Given the description of an element on the screen output the (x, y) to click on. 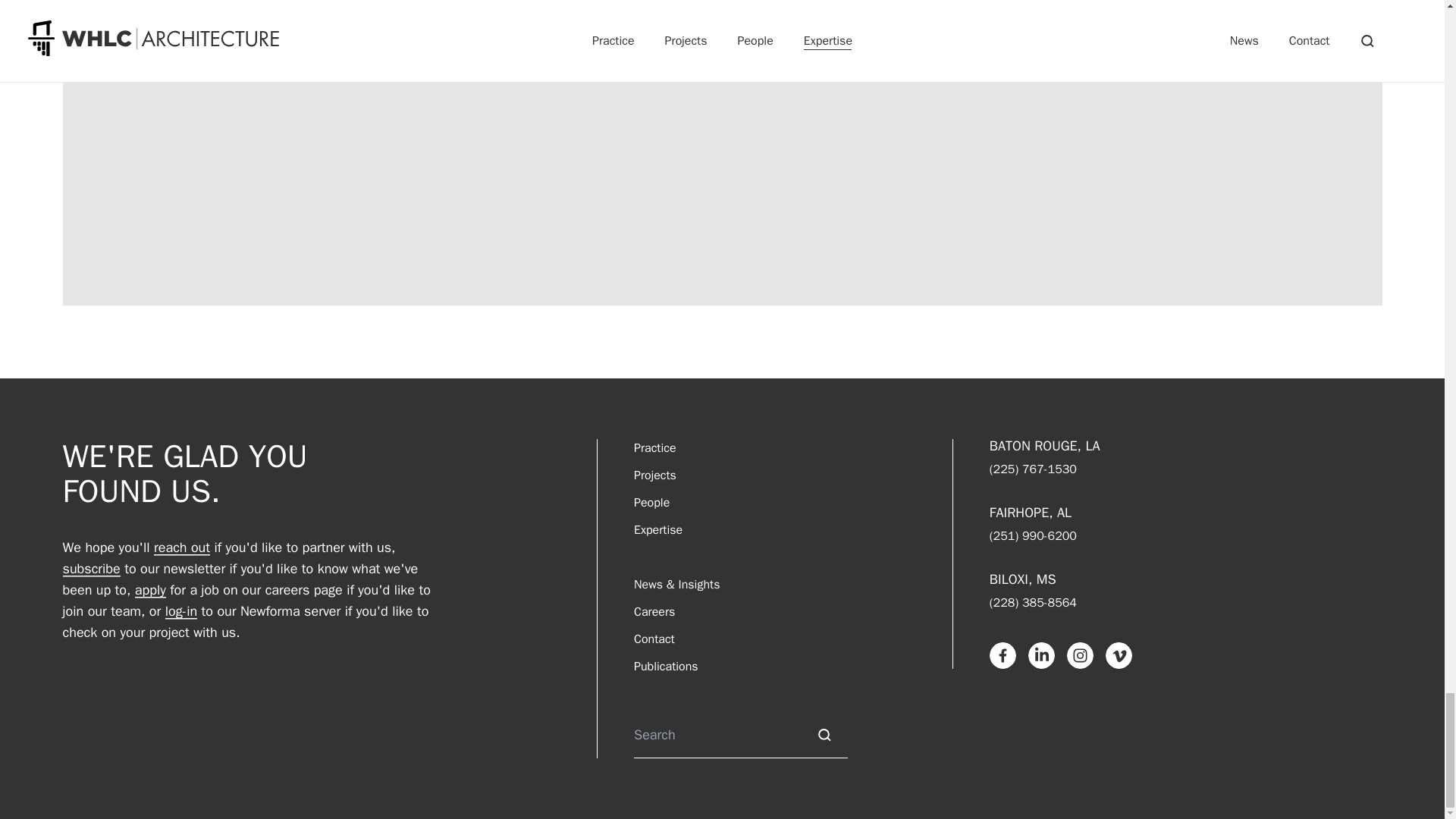
Submit Search (824, 734)
